Given the description of an element on the screen output the (x, y) to click on. 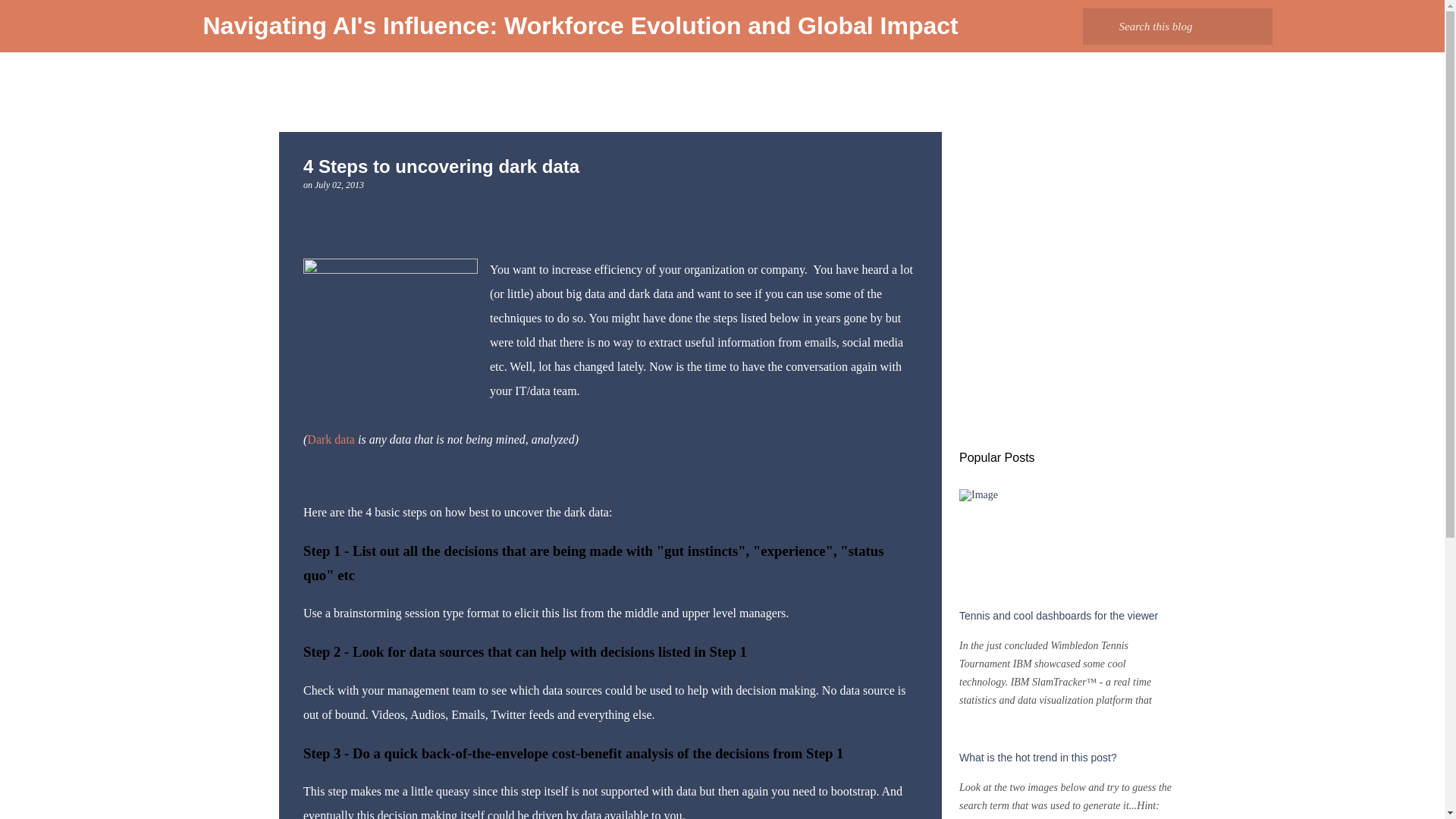
Tennis and cool dashboards for the viewer (1058, 615)
permanent link (339, 184)
July 02, 2013 (339, 184)
Dark data (332, 439)
What is the hot trend in this post? (1037, 757)
